Given the description of an element on the screen output the (x, y) to click on. 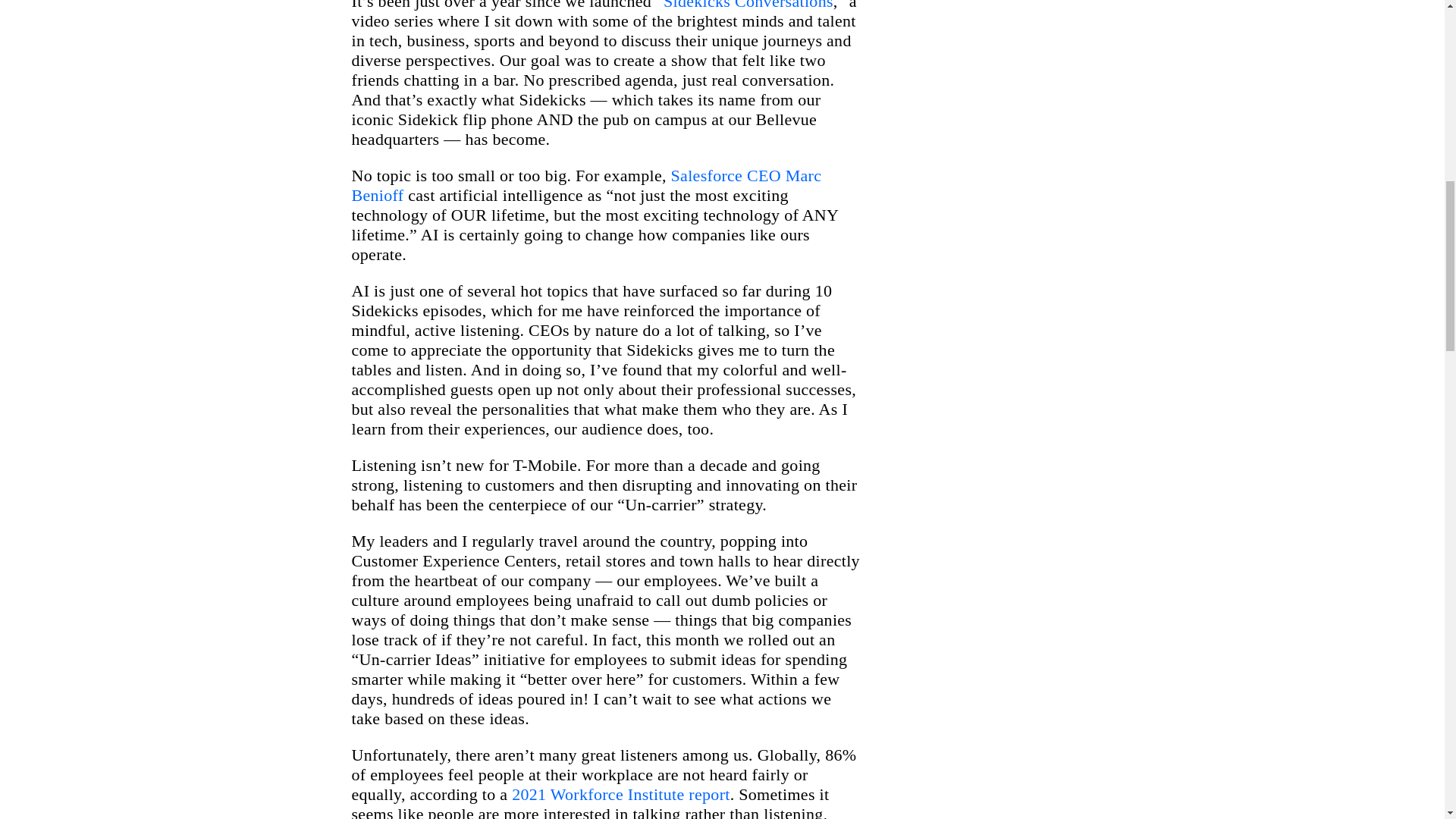
2021 Workforce Institute report (621, 793)
Salesforce CEO Marc Benioff (587, 185)
Sidekicks Conversations (747, 5)
